Given the description of an element on the screen output the (x, y) to click on. 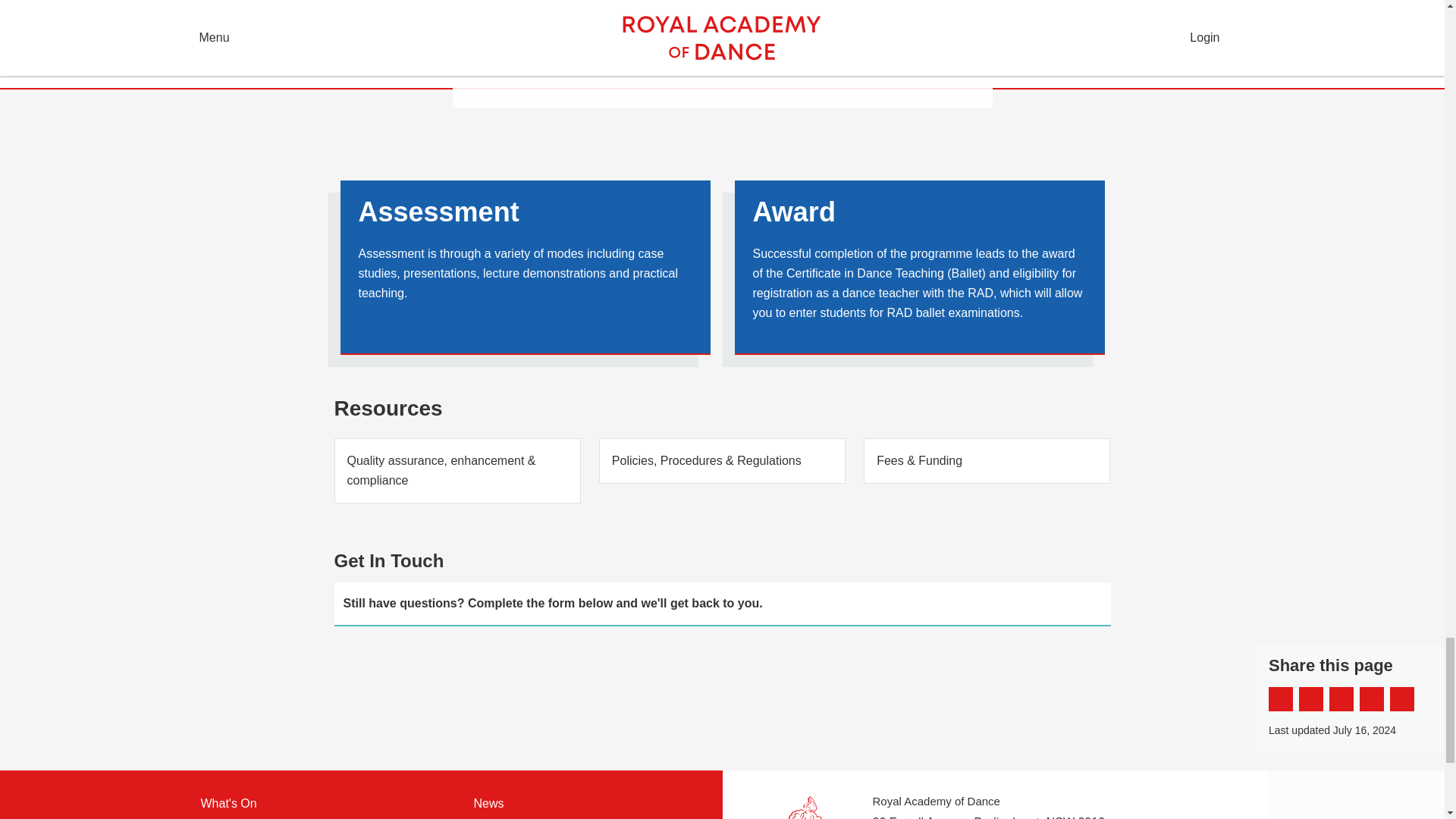
Share this page on linkedin (1371, 699)
Share this page on Twitter (1310, 699)
Share this page using Whatsapp (1401, 699)
Share this page on Facebook (1280, 699)
Share this page using Whatsapp (1401, 699)
Share this page on Facebook (1280, 699)
Share this page on linkedin (1371, 699)
Share this page via email (1341, 699)
Share this page on Twitter (1310, 699)
Share this page via email (1341, 699)
